Given the description of an element on the screen output the (x, y) to click on. 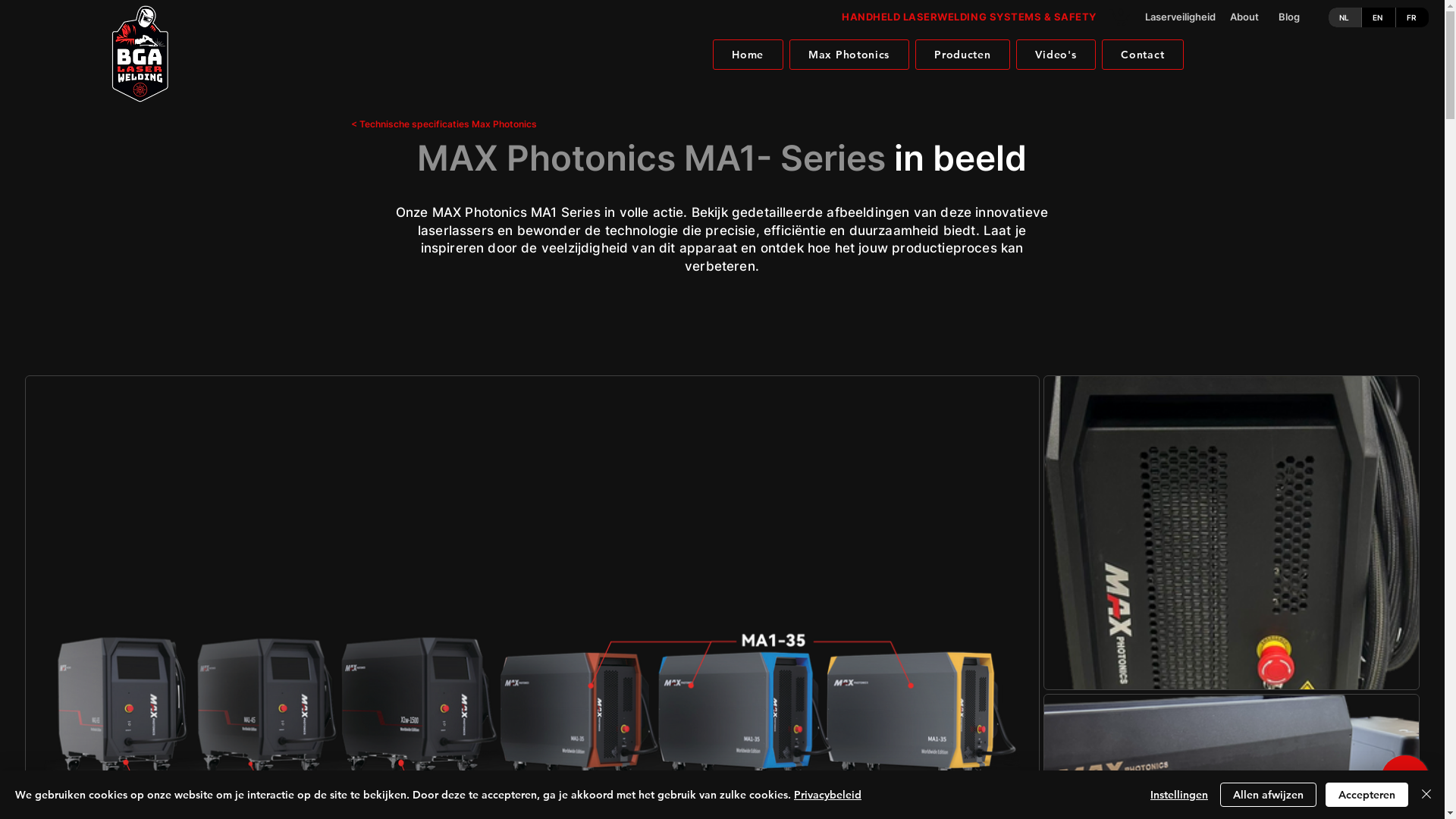
EN Element type: text (1377, 17)
FR Element type: text (1411, 17)
NL Element type: text (1344, 17)
BGA Laserwelding logo Element type: hover (139, 54)
Privacybeleid Element type: text (827, 794)
Blog Element type: text (1298, 17)
Max Photonics Element type: text (849, 54)
Laserveiligheid Element type: text (1177, 17)
About Element type: text (1250, 17)
Allen afwijzen Element type: text (1268, 794)
Video's Element type: text (1055, 54)
Contact Element type: text (1142, 54)
Accepteren Element type: text (1366, 794)
Home Element type: text (747, 54)
Producten Element type: text (962, 54)
0 Element type: text (1118, 16)
< Technische specificaties Max Photonics Element type: text (455, 124)
